Given the description of an element on the screen output the (x, y) to click on. 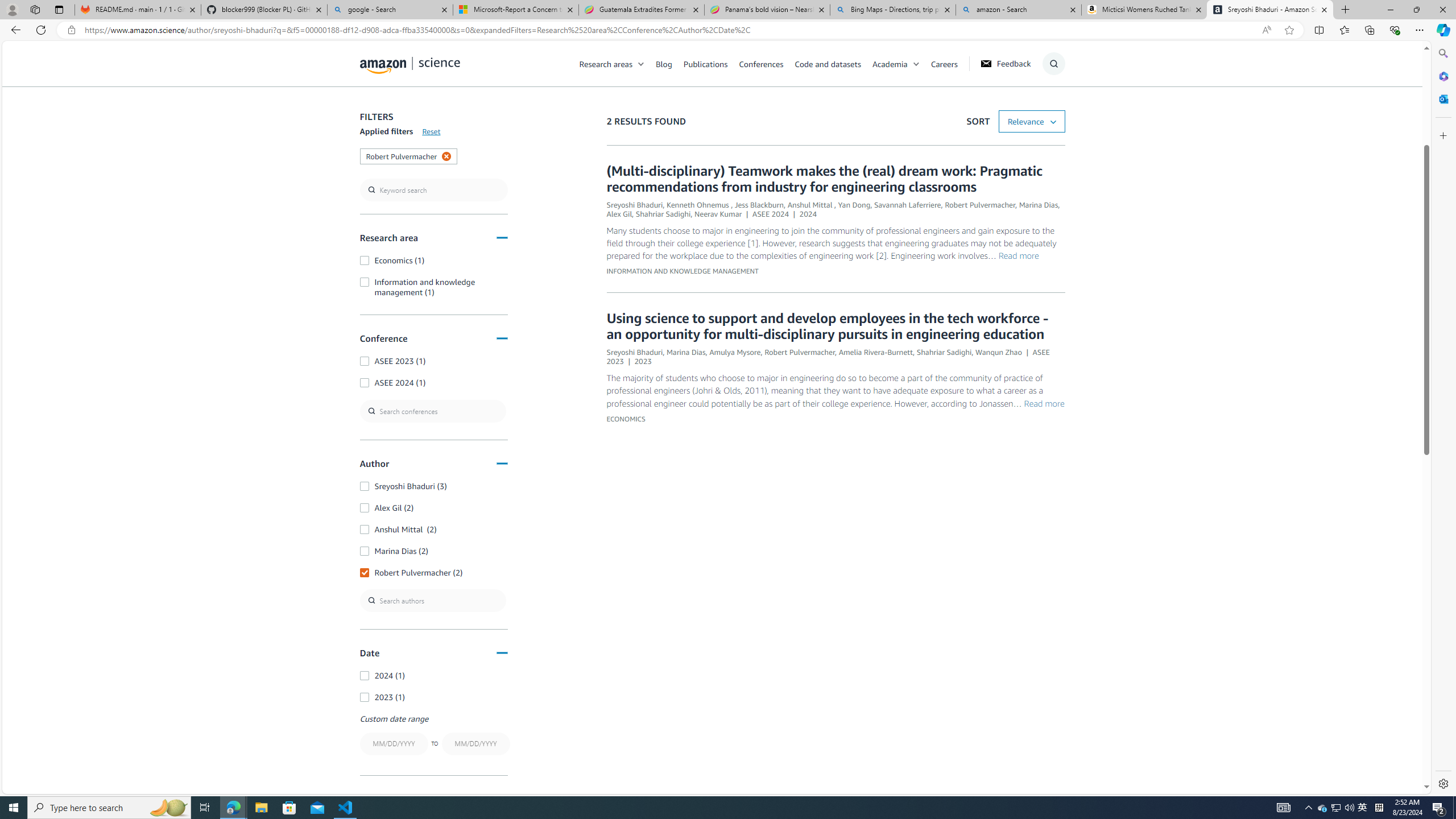
SORT (1031, 121)
Search authors (432, 599)
Reset (431, 131)
Custom date rangeTO (433, 736)
Read more (1043, 402)
